Given the description of an element on the screen output the (x, y) to click on. 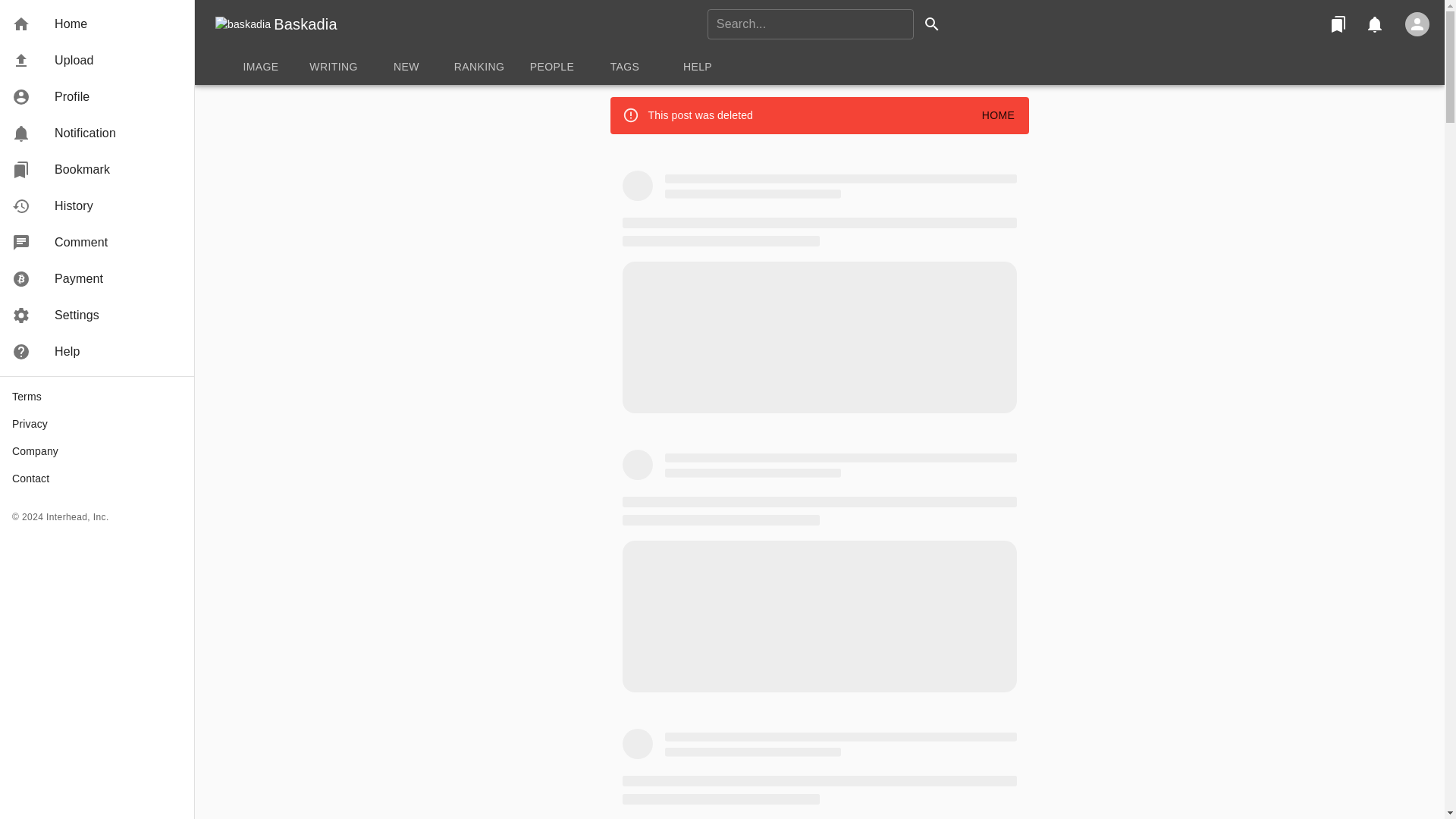
Terms (96, 396)
History (96, 206)
Bookmark (1338, 24)
Baskadia (304, 23)
Home (96, 23)
Upload (96, 60)
Payment (96, 279)
Notification (1374, 24)
Comment (96, 242)
